Given the description of an element on the screen output the (x, y) to click on. 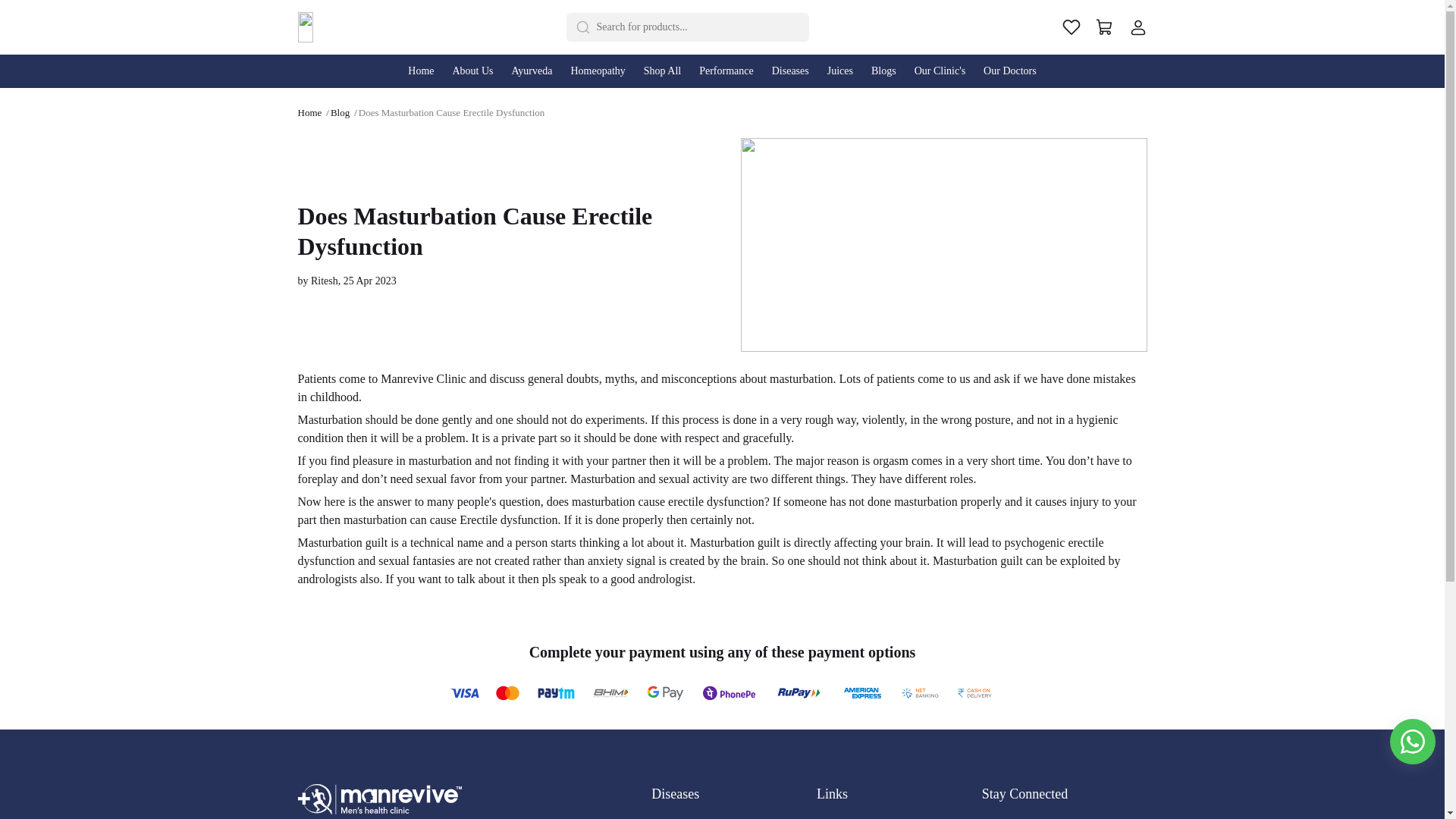
Diseases (790, 70)
Home (420, 70)
About Us (472, 70)
Our Clinic's (939, 70)
Shop All (662, 70)
Performance (726, 70)
Blogs (883, 70)
Juices (839, 70)
Blog (339, 112)
Ayurveda (532, 70)
Our Doctors (1009, 70)
Home (309, 112)
Homeopathy (596, 70)
